Given the description of an element on the screen output the (x, y) to click on. 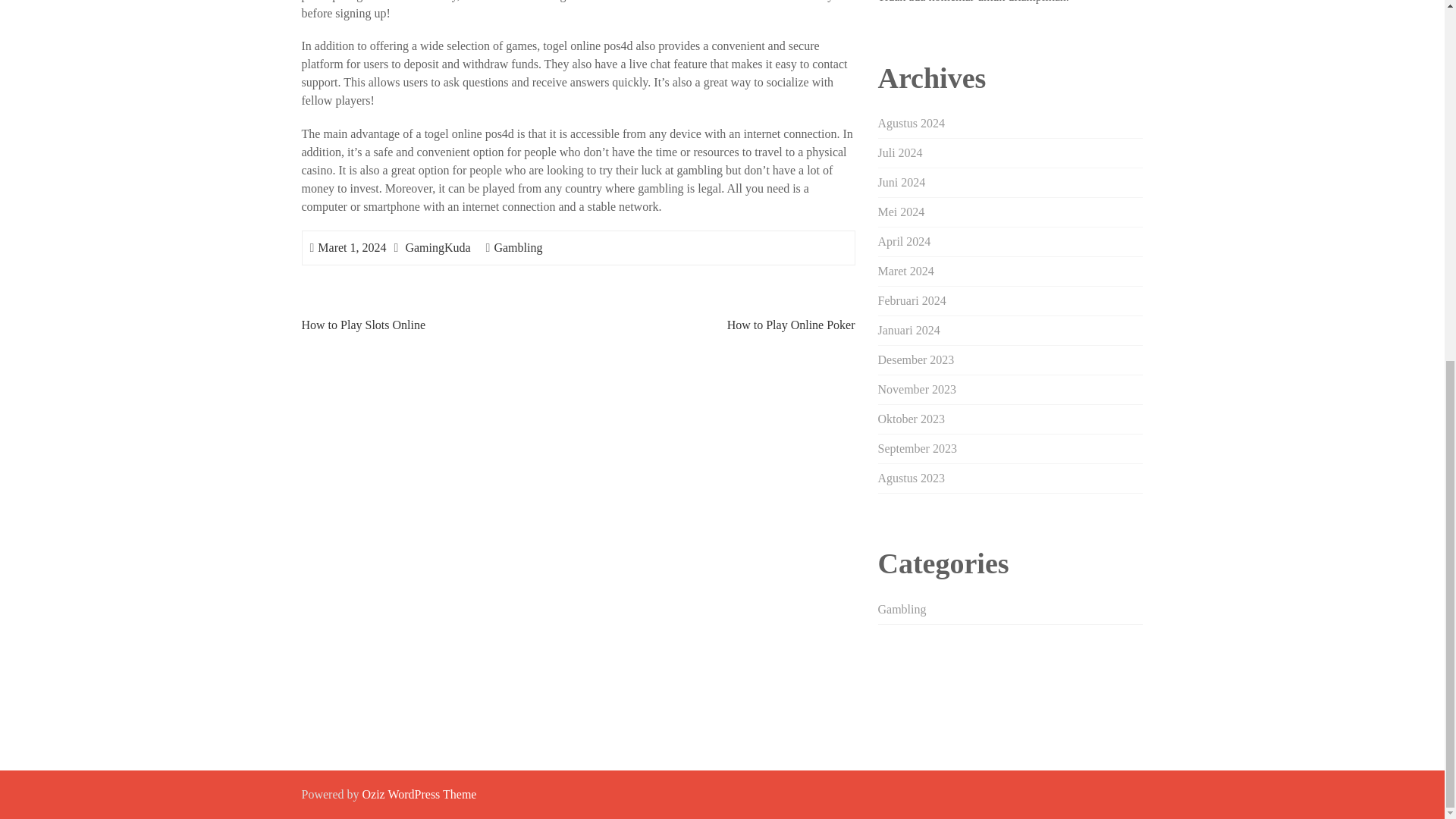
Oziz WordPress Theme (418, 793)
How to Play Online Poker (791, 324)
Gambling (901, 608)
How to Play Slots Online (363, 324)
Gambling (517, 246)
GamingKuda (437, 246)
April 2024 (904, 241)
Januari 2024 (908, 329)
November 2023 (916, 389)
September 2023 (916, 448)
